Given the description of an element on the screen output the (x, y) to click on. 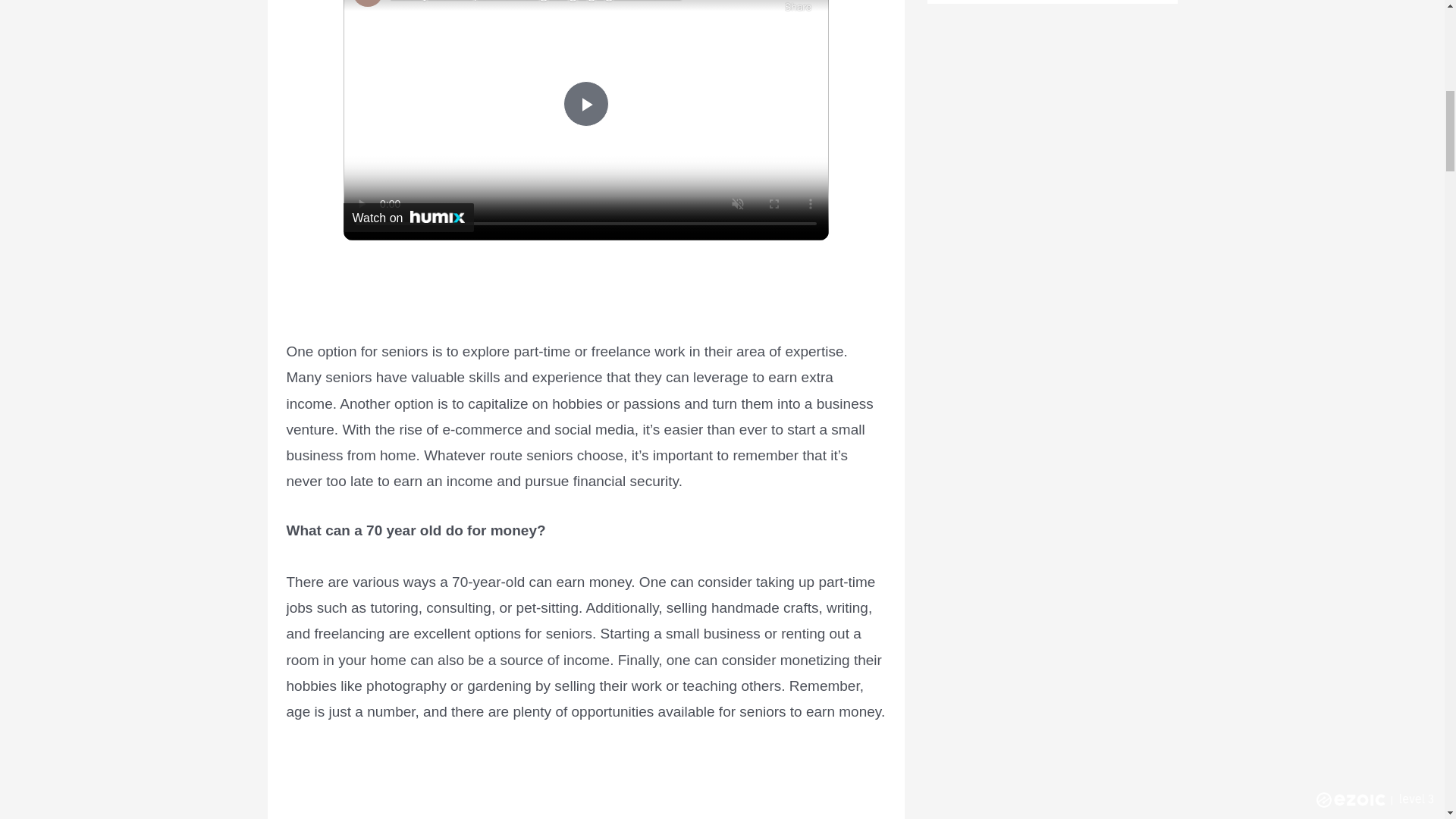
Play Video (585, 103)
share (797, 10)
